Given the description of an element on the screen output the (x, y) to click on. 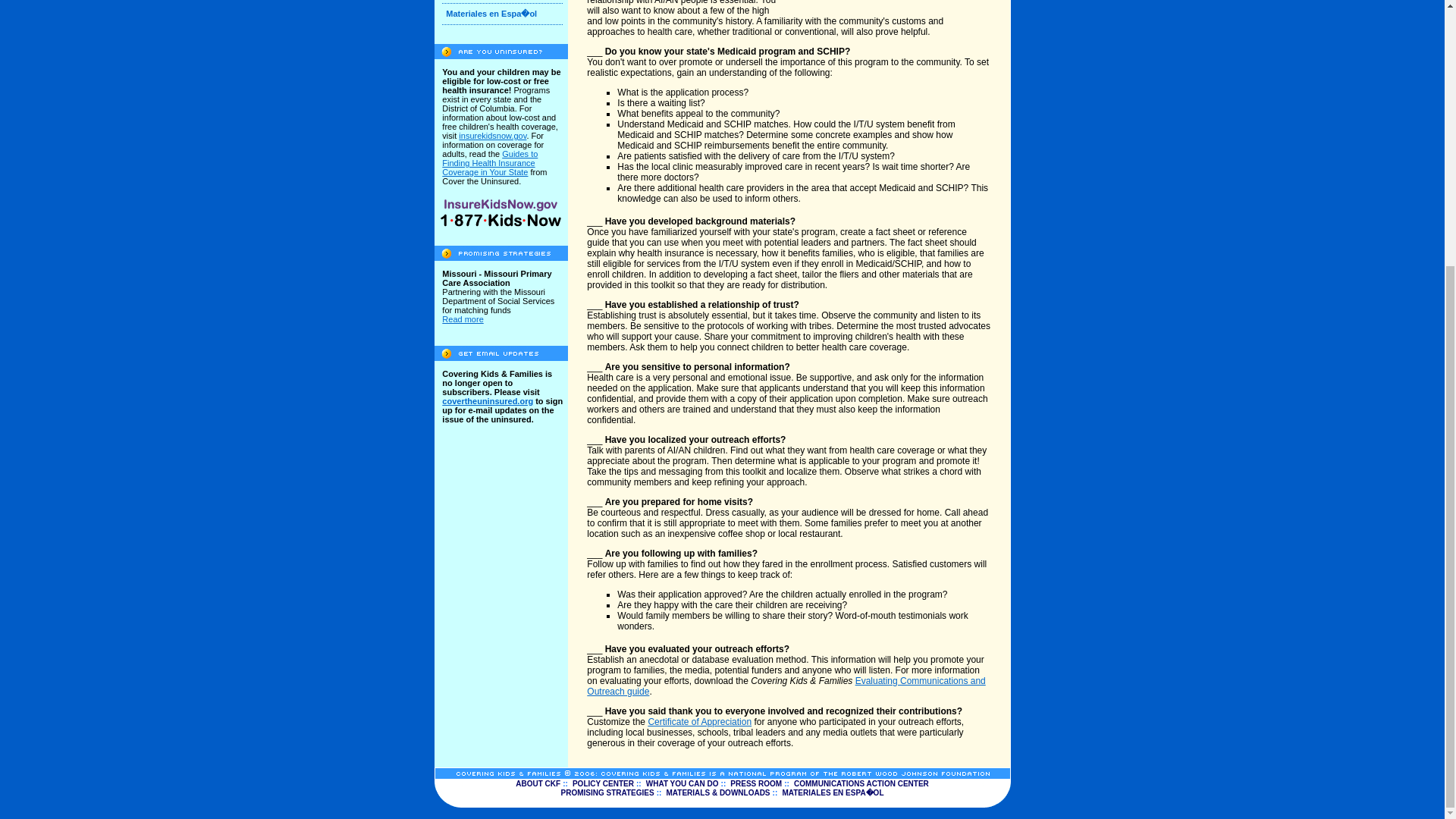
insurekidsnow.gov (491, 135)
ABOUT CKF (537, 783)
POLICY CENTER (602, 783)
PROMISING STRATEGIES (606, 792)
COMMUNICATIONS ACTION CENTER (860, 783)
Evaluating Communications and Outreach guide (785, 685)
covertheuninsured.org (487, 400)
Read more (462, 318)
PRESS ROOM (755, 783)
WHAT YOU CAN DO (682, 783)
Guides to Finding Health Insurance Coverage in Your State (489, 162)
Certificate of Appreciation (699, 721)
